Given the description of an element on the screen output the (x, y) to click on. 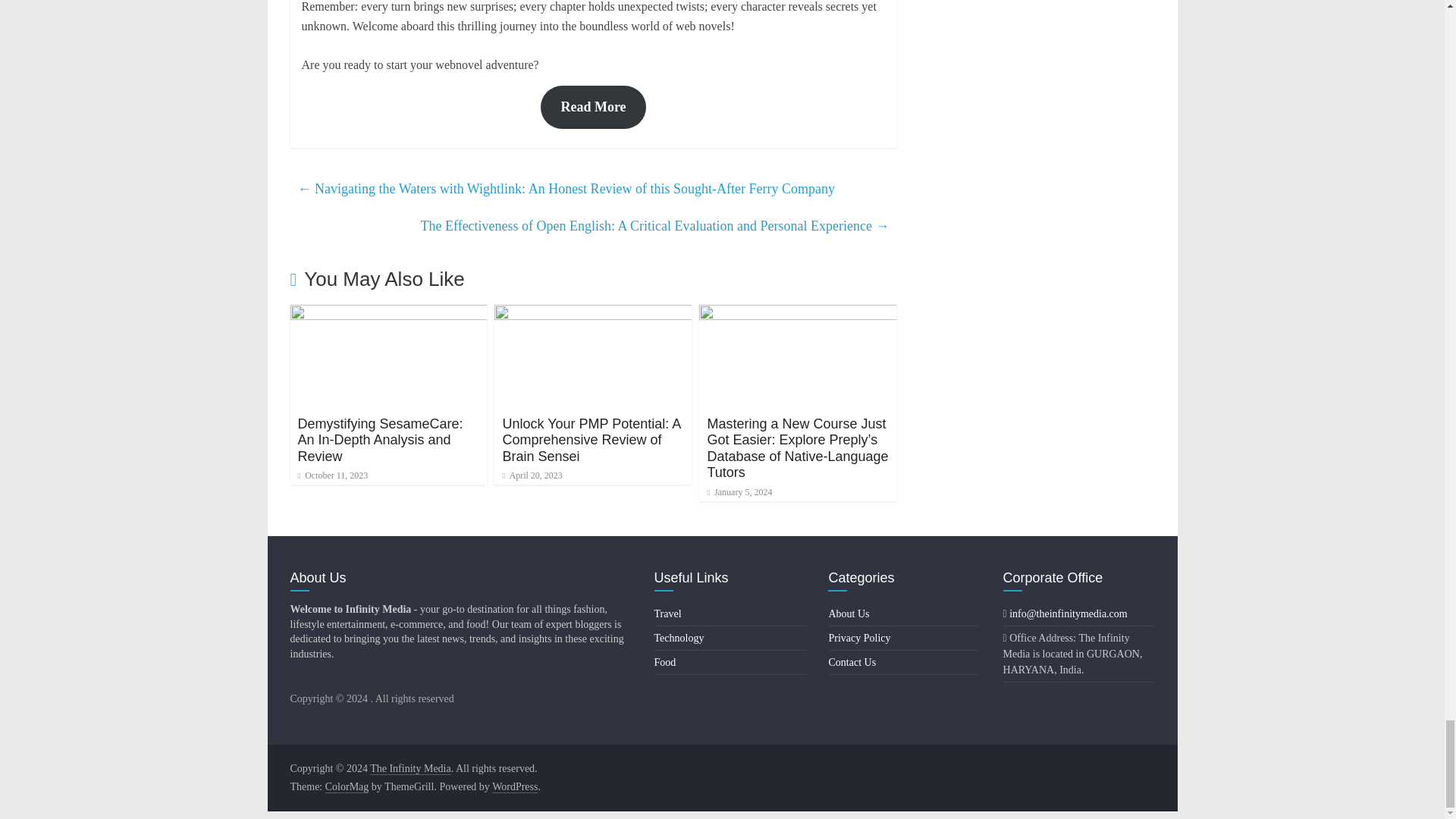
7:56 am (532, 475)
Demystifying SesameCare: An In-Depth Analysis and Review (387, 314)
Read More (592, 106)
12:56 pm (332, 475)
Demystifying SesameCare: An In-Depth Analysis and Review (380, 440)
October 11, 2023 (332, 475)
6:41 am (738, 491)
